Given the description of an element on the screen output the (x, y) to click on. 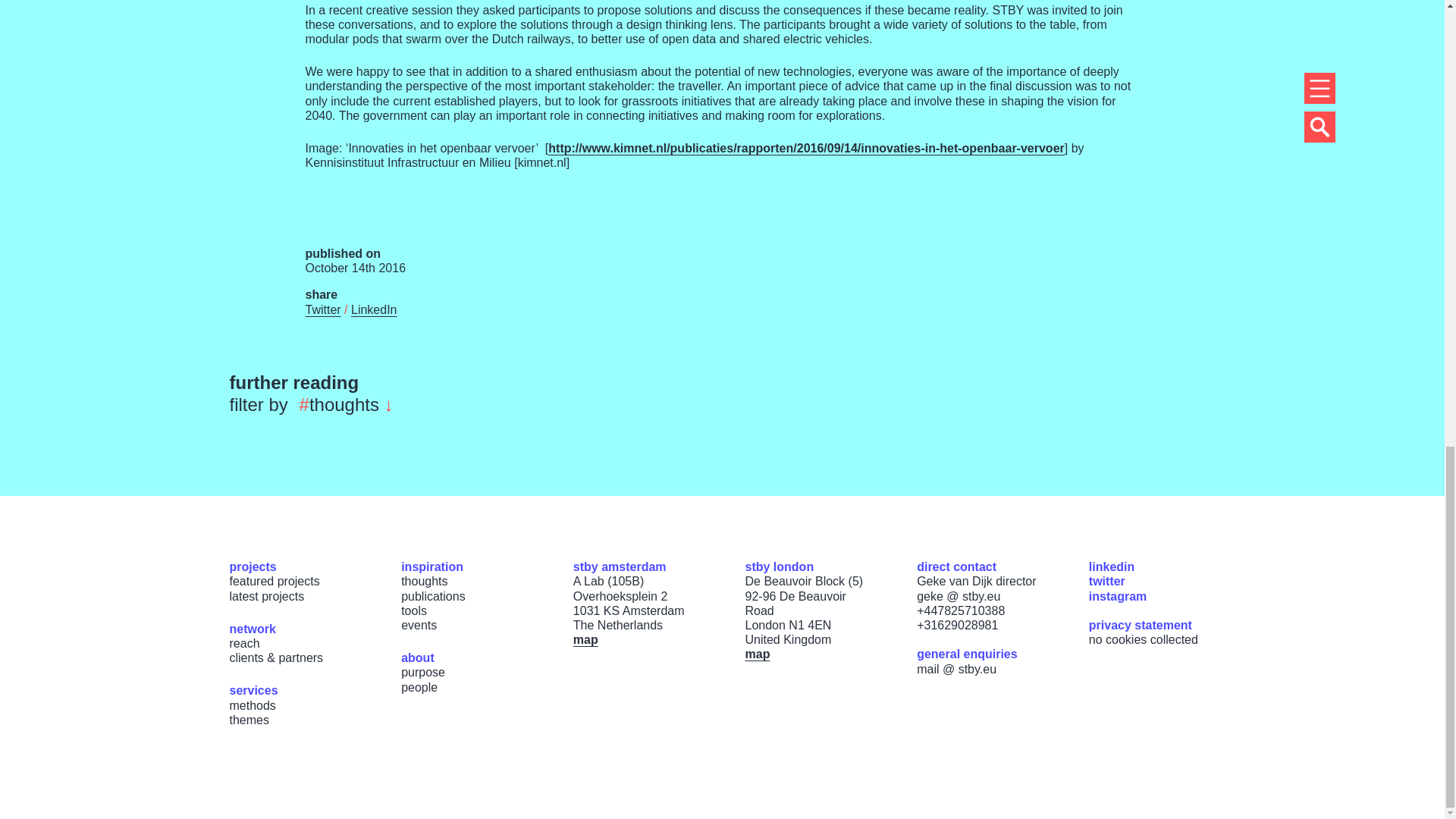
Twitter (322, 309)
thoughts (423, 581)
inspiration (432, 566)
featured projects (273, 581)
reach (243, 643)
LinkedIn (373, 309)
services (253, 689)
publications (433, 595)
network (251, 628)
methods (251, 705)
